Given the description of an element on the screen output the (x, y) to click on. 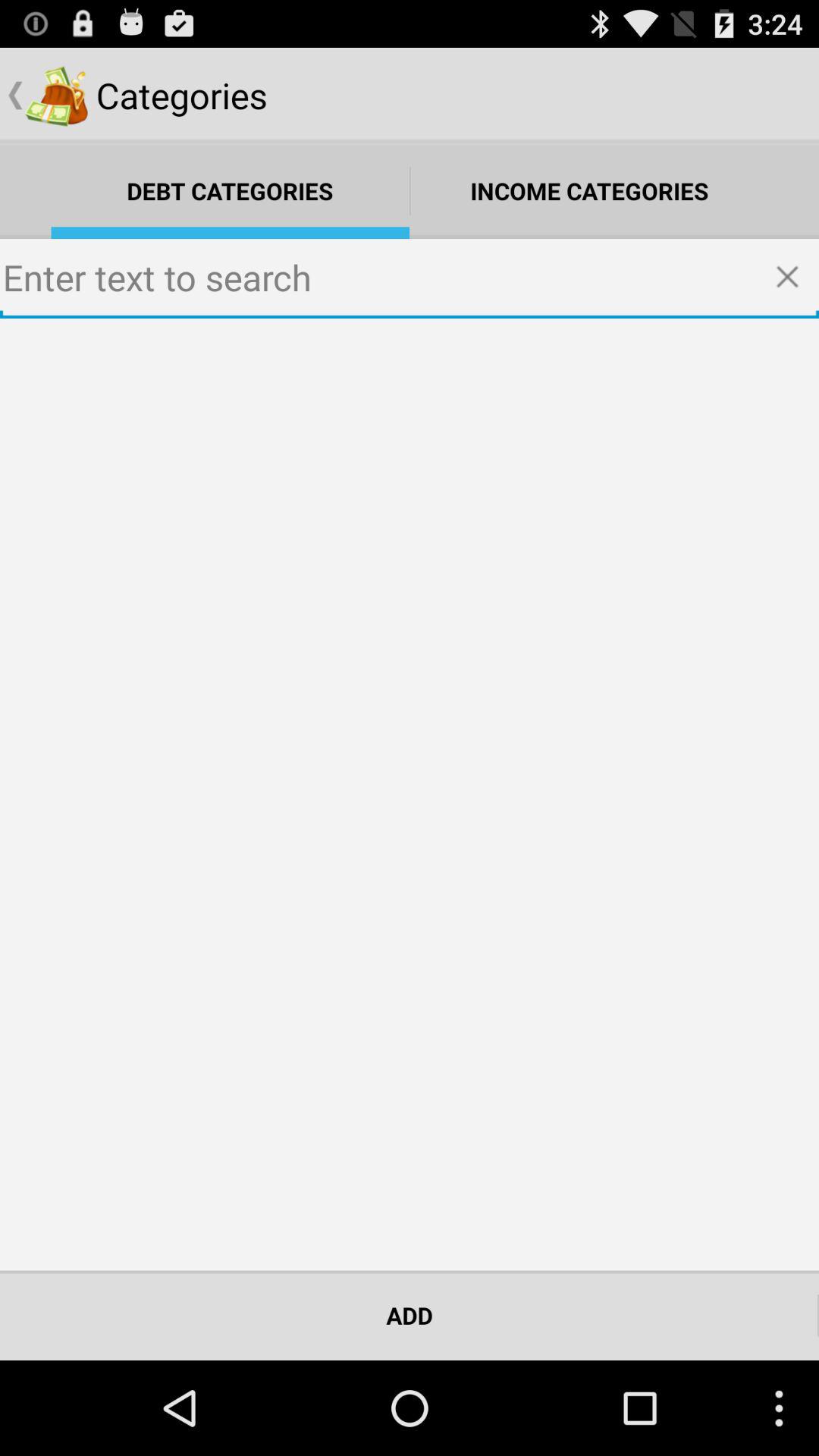
click the item above add item (409, 794)
